Given the description of an element on the screen output the (x, y) to click on. 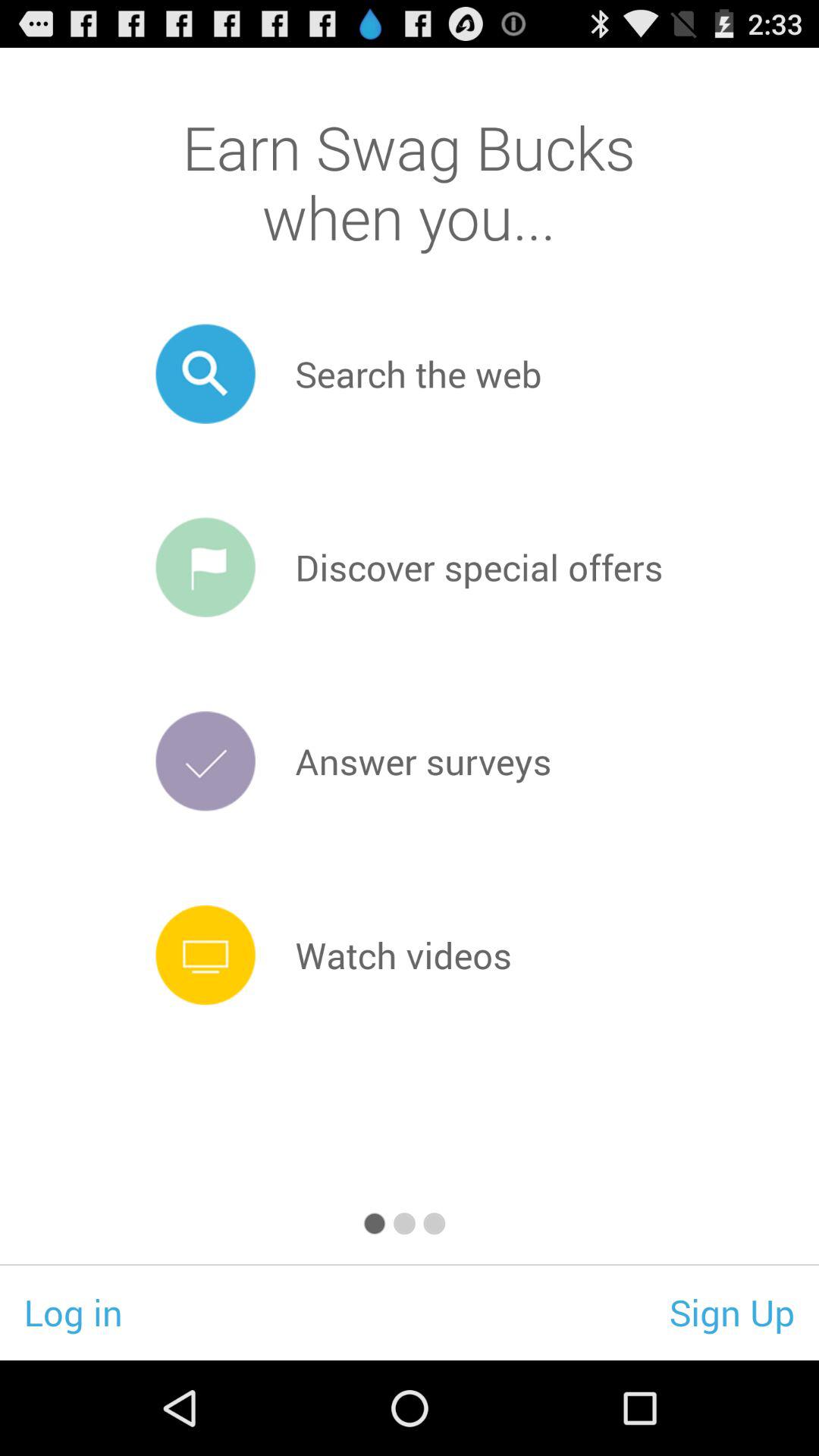
scroll until the sign up item (732, 1312)
